Given the description of an element on the screen output the (x, y) to click on. 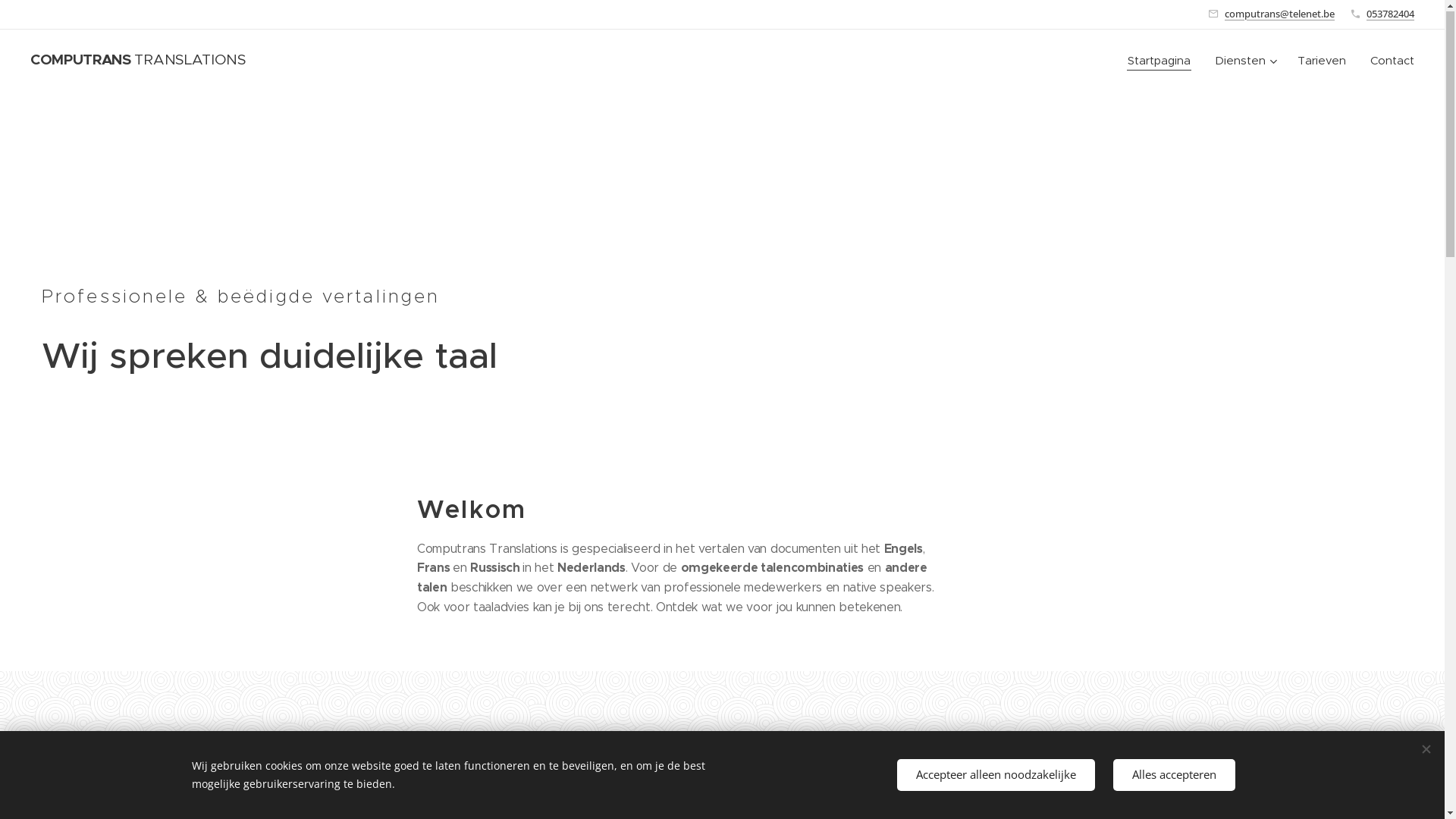
Alles accepteren Element type: text (1174, 774)
Startpagina Element type: text (1162, 61)
Accepteer alleen noodzakelijke Element type: text (995, 774)
Diensten Element type: text (1243, 61)
053782404 Element type: text (1390, 14)
computrans@telenet.be Element type: text (1279, 14)
Contact Element type: text (1386, 61)
Tarieven Element type: text (1321, 61)
